Given the description of an element on the screen output the (x, y) to click on. 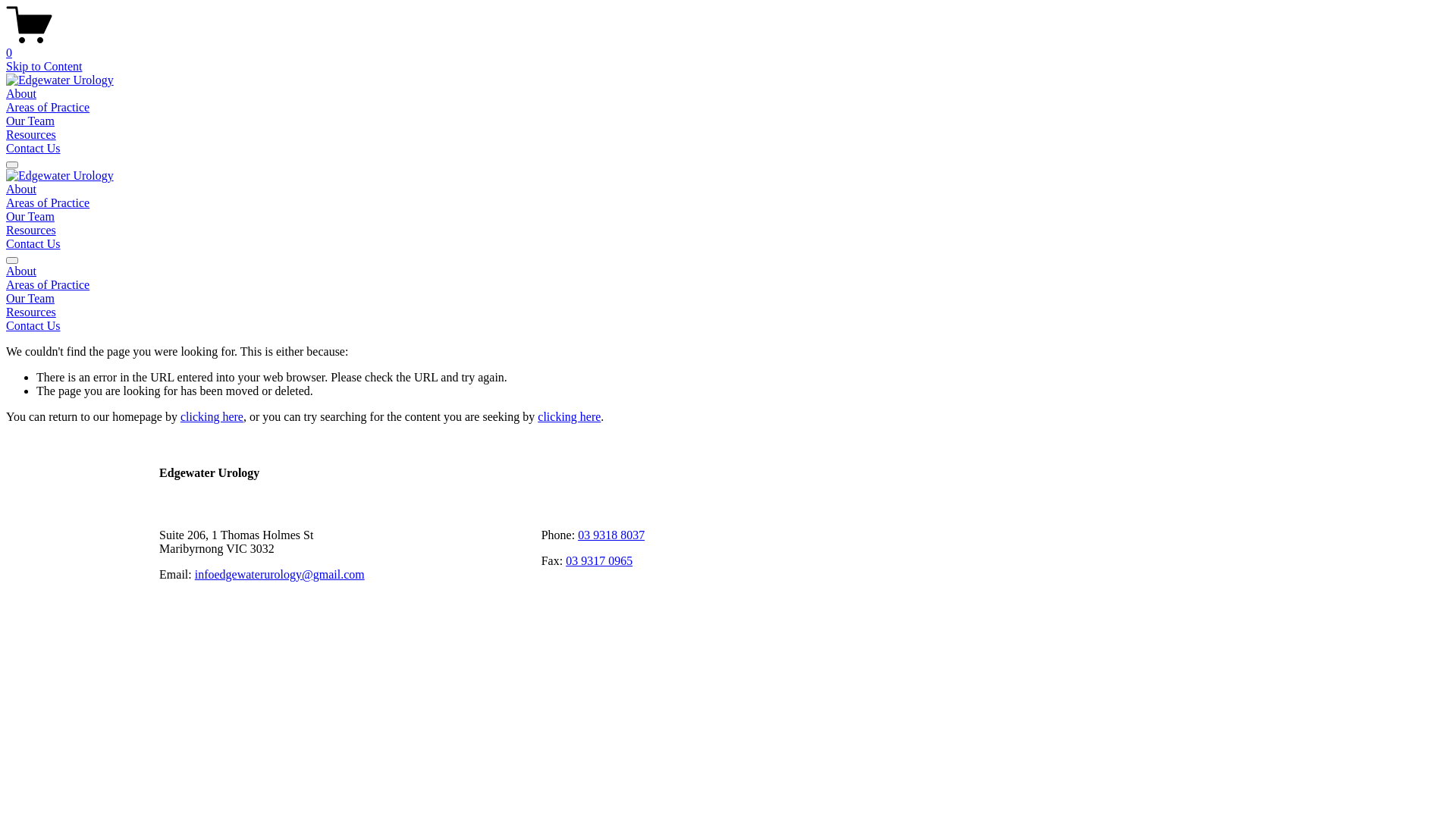
About Element type: text (727, 271)
Areas of Practice Element type: text (47, 202)
Resources Element type: text (31, 229)
clicking here Element type: text (568, 416)
Our Team Element type: text (30, 120)
0 Element type: text (727, 45)
Resources Element type: text (31, 134)
infoedgewaterurology@gmail.com Element type: text (279, 573)
Areas of Practice Element type: text (47, 106)
About Element type: text (21, 188)
Resources Element type: text (727, 312)
Contact Us Element type: text (727, 325)
03 9317 0965 Element type: text (598, 560)
Contact Us Element type: text (33, 243)
Areas of Practice Element type: text (727, 284)
About Element type: text (21, 93)
Contact Us Element type: text (33, 147)
Our Team Element type: text (727, 298)
clicking here Element type: text (211, 416)
Our Team Element type: text (30, 216)
Skip to Content Element type: text (43, 65)
03 9318 8037 Element type: text (610, 534)
